Given the description of an element on the screen output the (x, y) to click on. 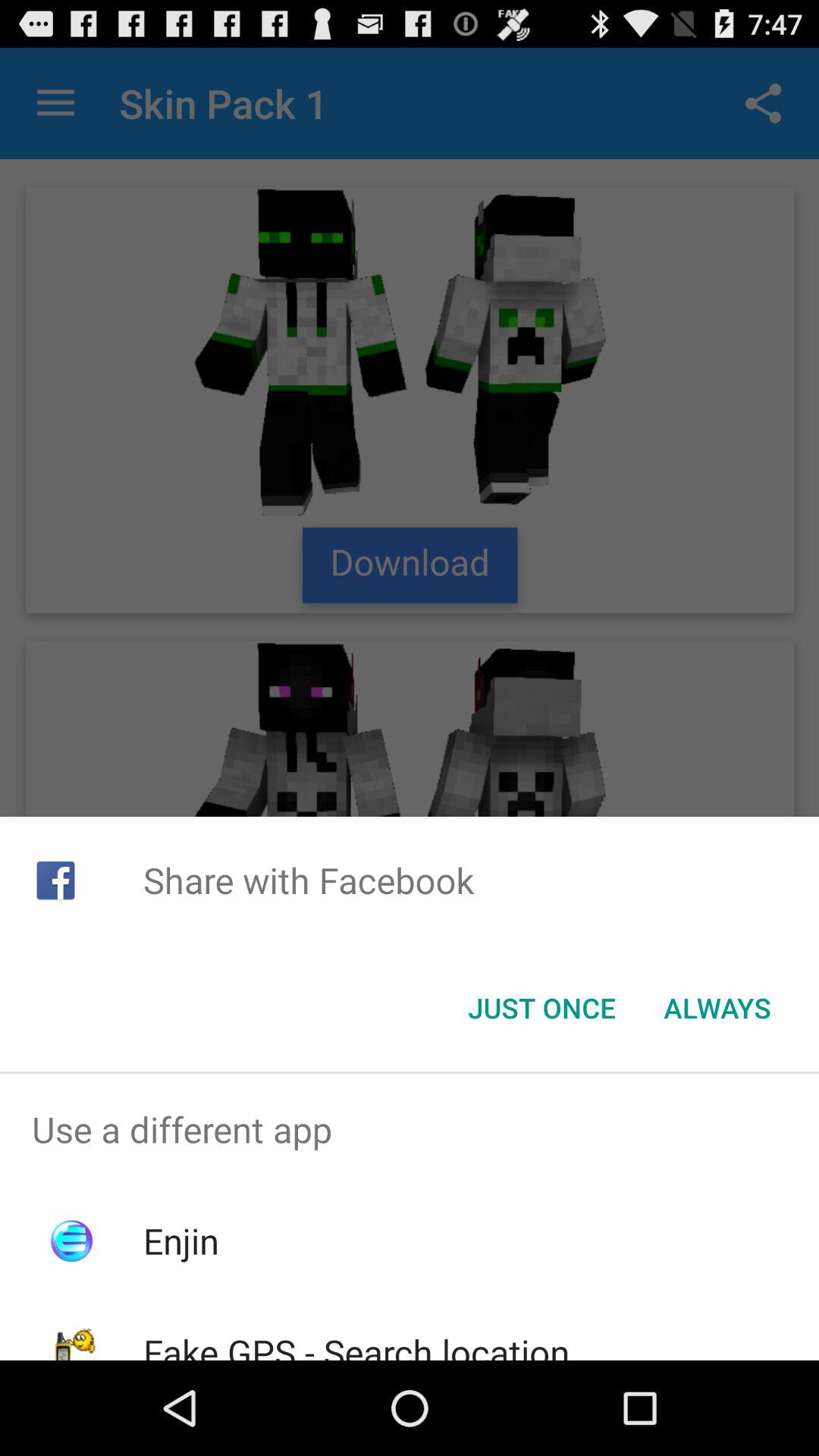
click icon next to the just once item (717, 1007)
